Given the description of an element on the screen output the (x, y) to click on. 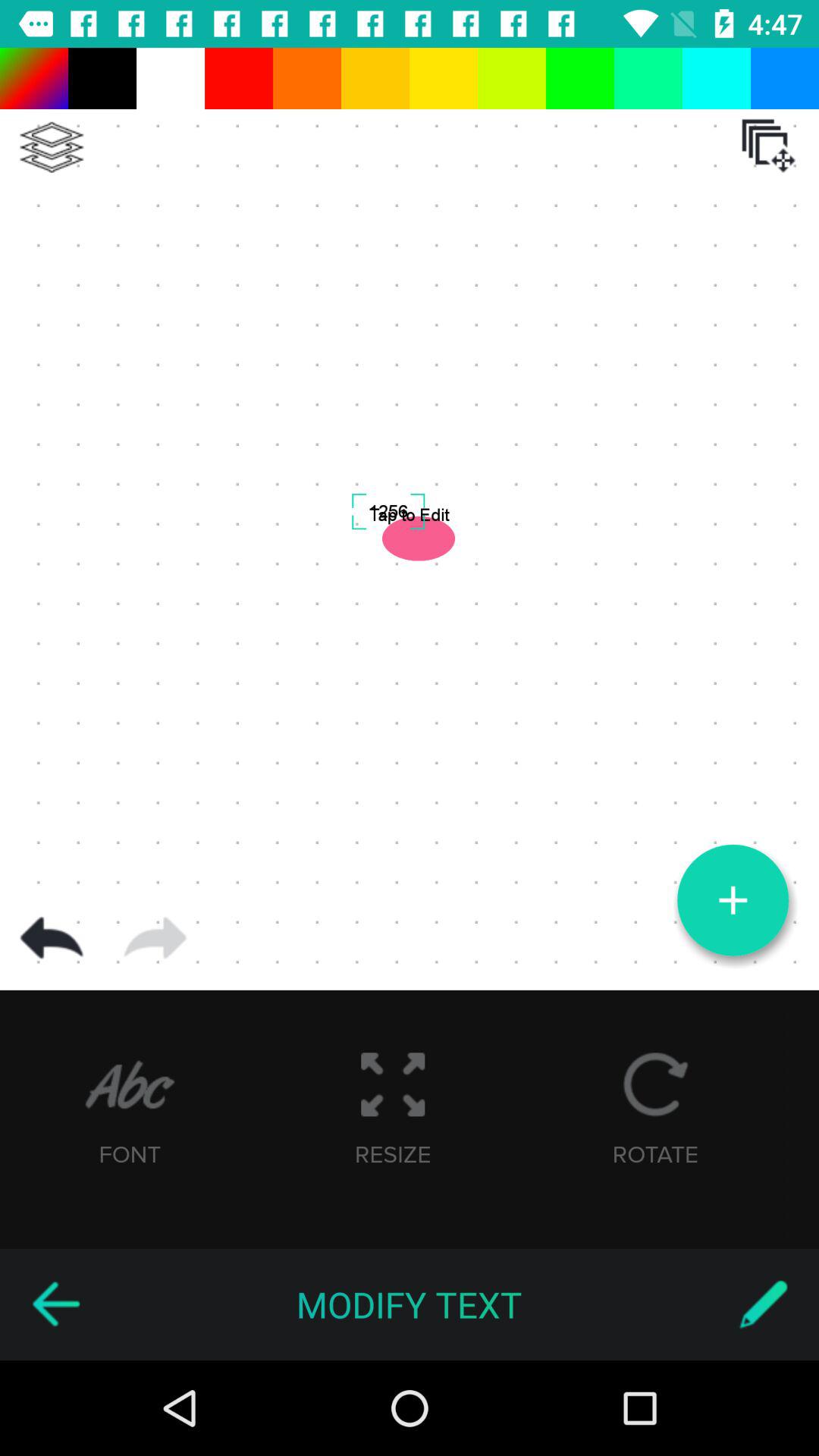
create new logo (733, 900)
